Given the description of an element on the screen output the (x, y) to click on. 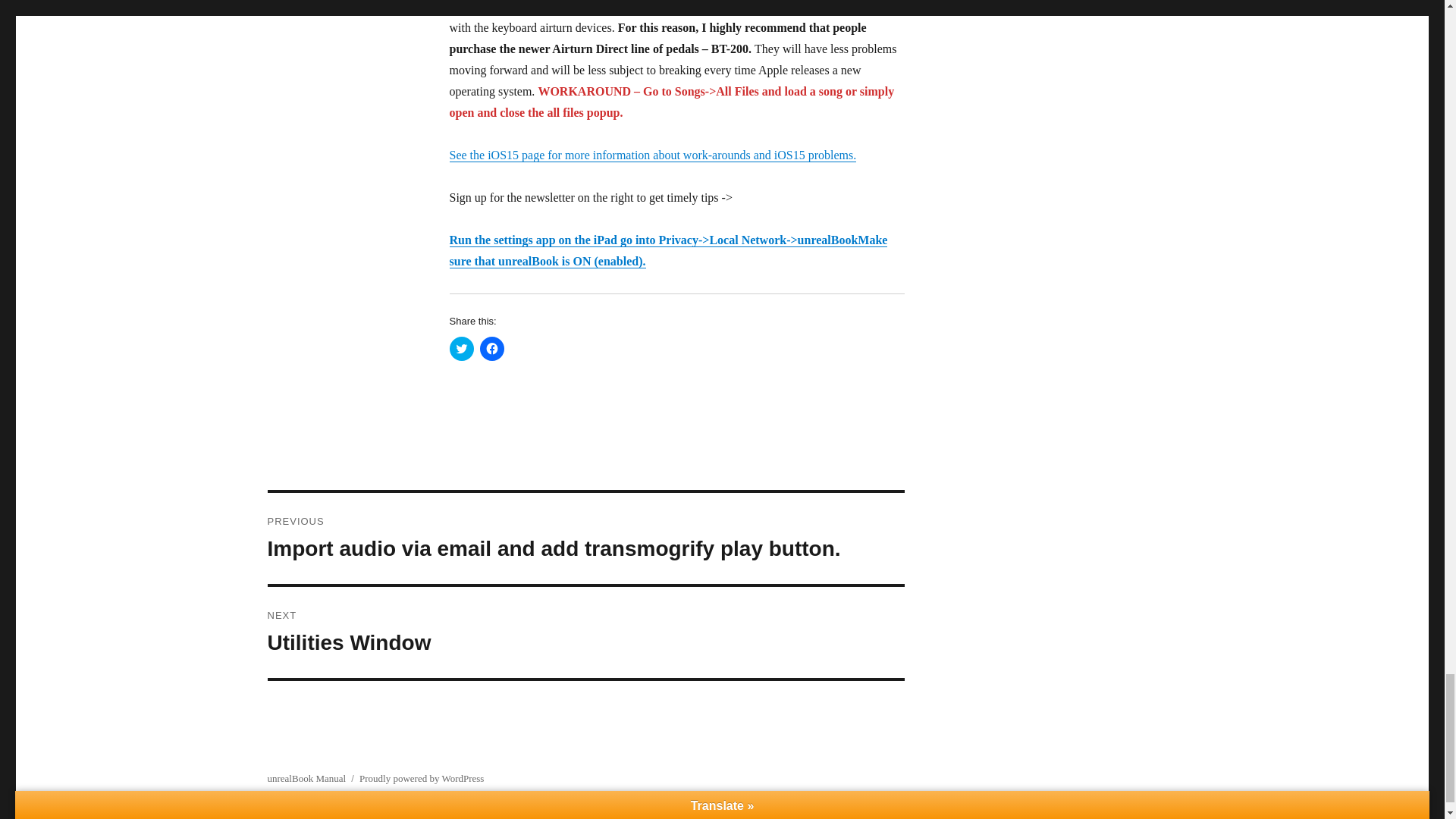
Click to share on Facebook (491, 348)
Click to share on Twitter (460, 348)
